Given the description of an element on the screen output the (x, y) to click on. 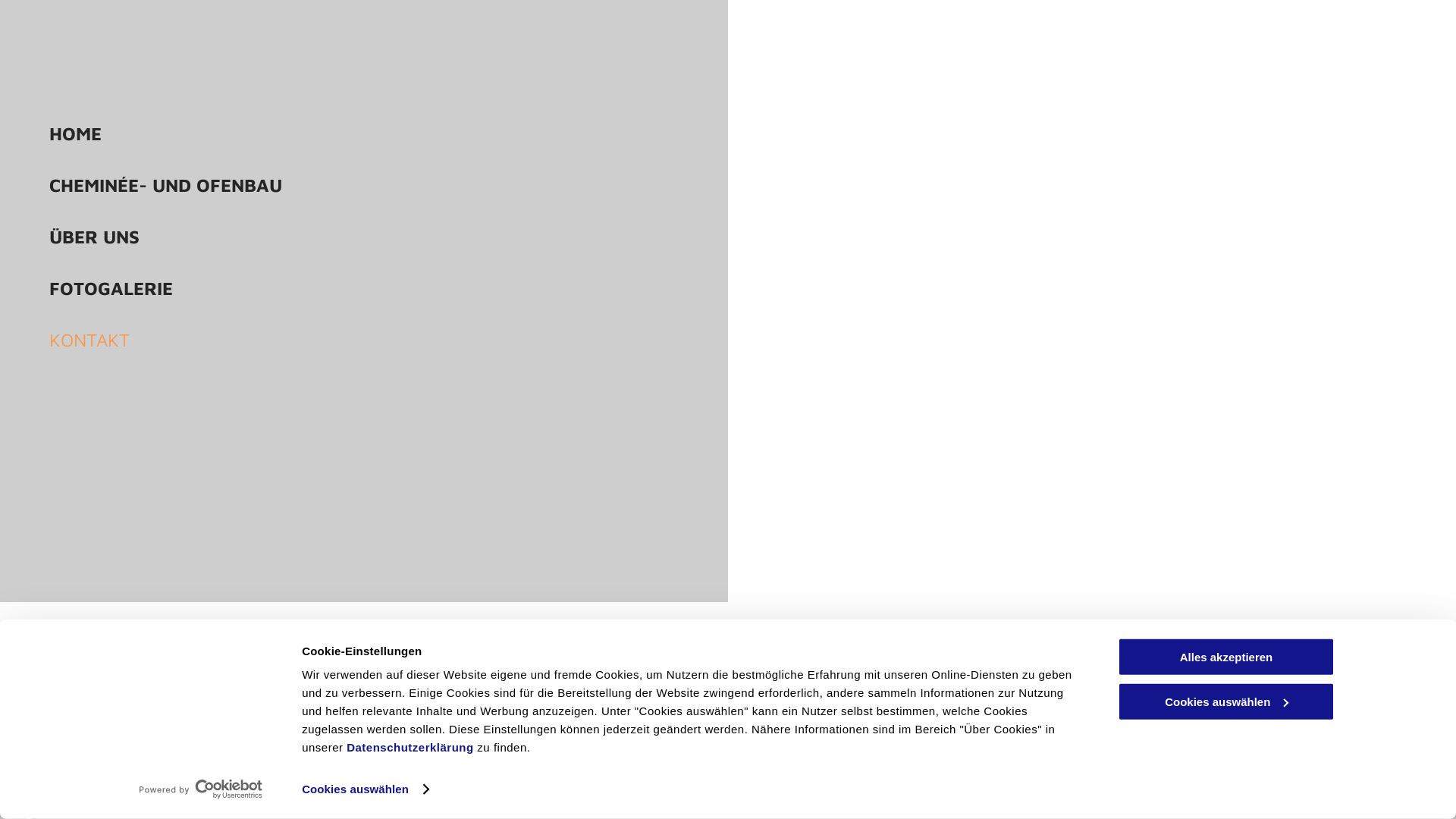
KONTAKT Element type: text (393, 339)
HOME Element type: text (393, 133)
FOTOGALERIE Element type: text (393, 287)
Alles akzeptieren Element type: text (1225, 656)
